Given the description of an element on the screen output the (x, y) to click on. 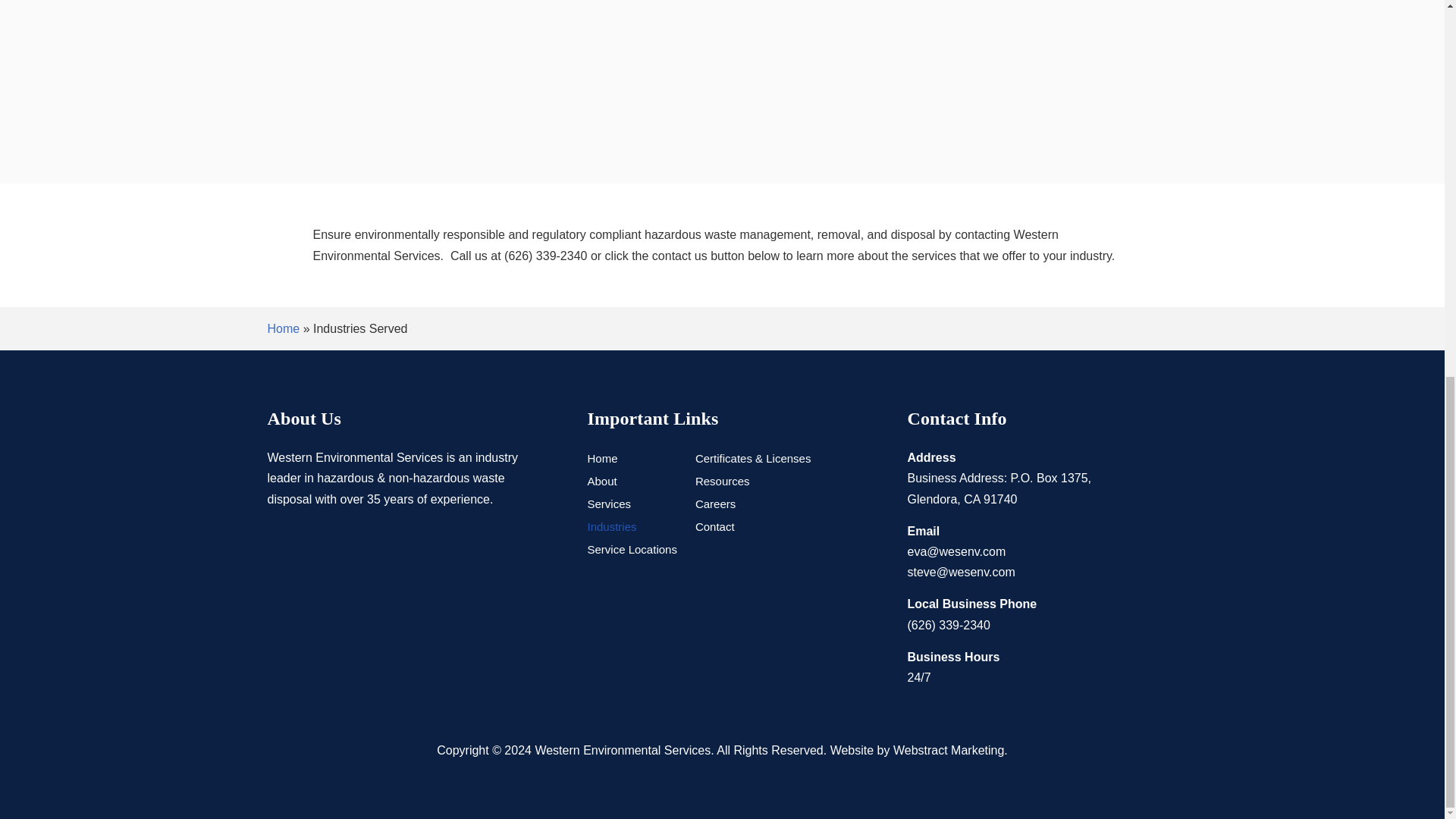
Careers (715, 506)
Email (956, 551)
About (600, 484)
Industries (611, 529)
Home (282, 328)
Home (601, 461)
Website Design Los Angeles CA (948, 749)
Service Locations (631, 552)
Contact (715, 529)
Resources (722, 484)
Website Design Los Angeles CA (1094, 379)
Services (608, 506)
Webstract Marketing (948, 749)
Western Environmental Services (622, 749)
